Given the description of an element on the screen output the (x, y) to click on. 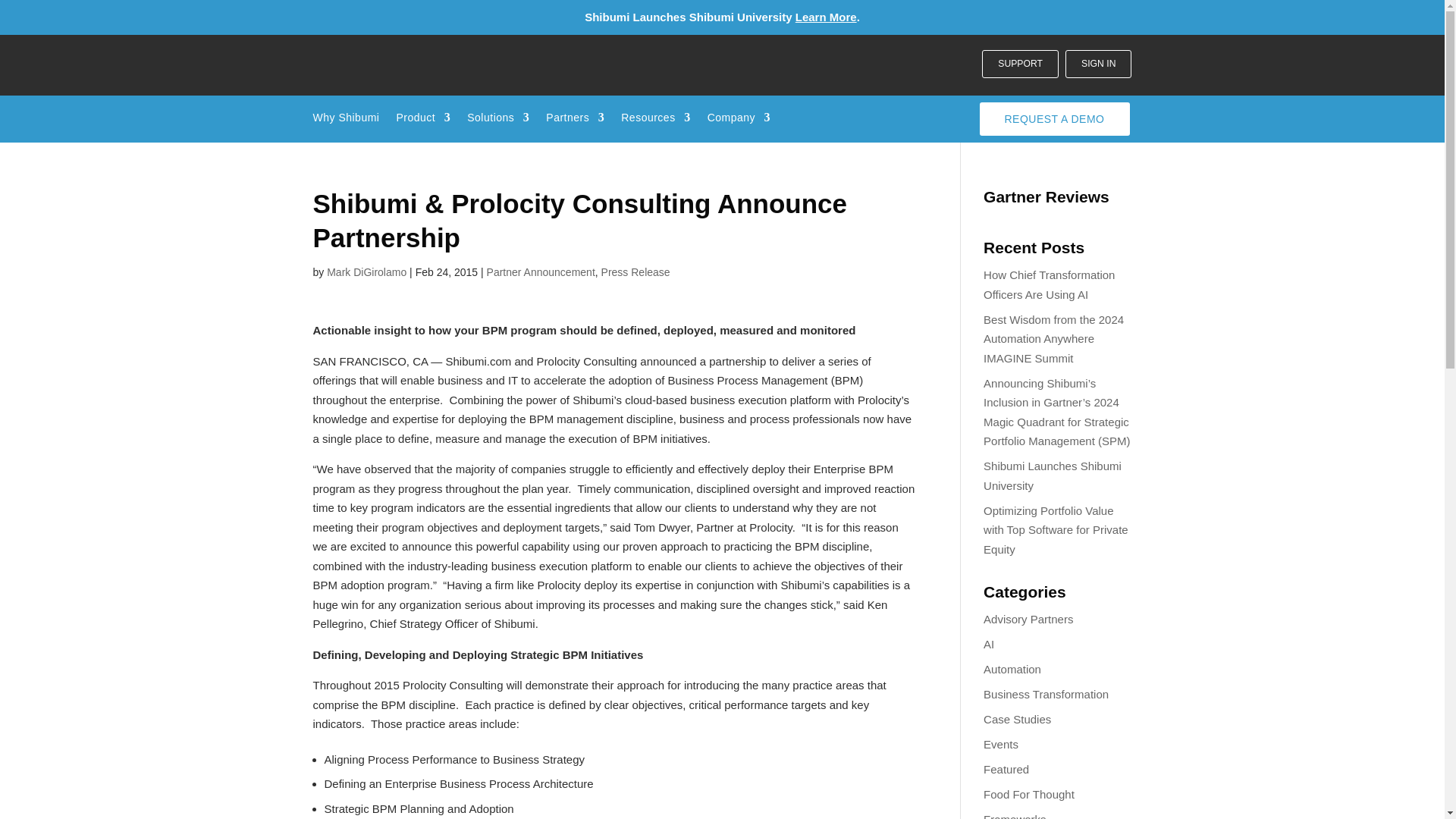
SUPPORT (1019, 63)
SIGN IN (1098, 63)
Why Shibumi (345, 119)
Solutions (498, 119)
Posts by Mark DiGirolamo (366, 271)
Product (422, 119)
Learn More (825, 16)
